Given the description of an element on the screen output the (x, y) to click on. 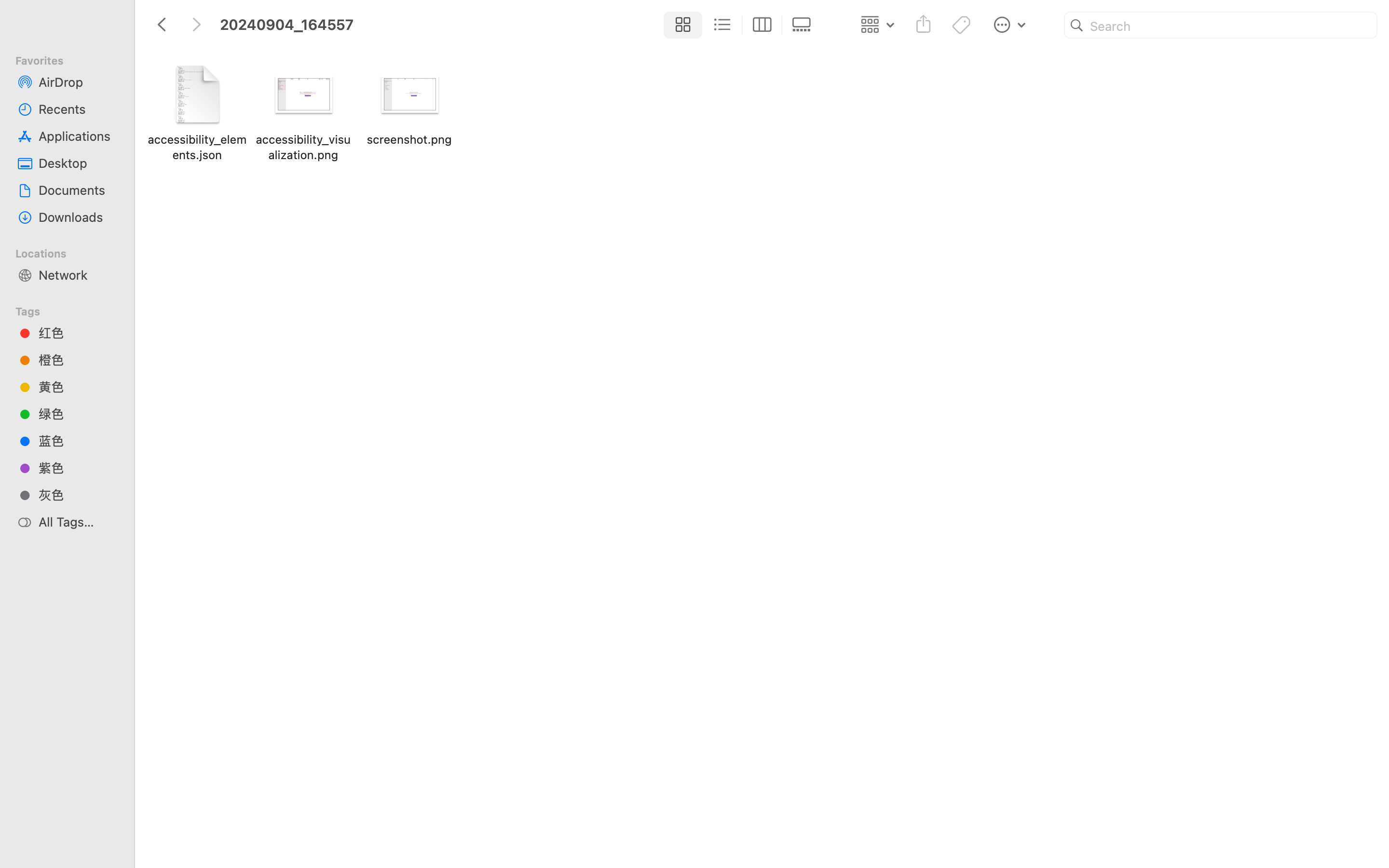
蓝色 Element type: AXStaticText (77, 440)
20240904_164557 Element type: AXStaticText (437, 827)
Favorites Element type: AXStaticText (72, 59)
